Given the description of an element on the screen output the (x, y) to click on. 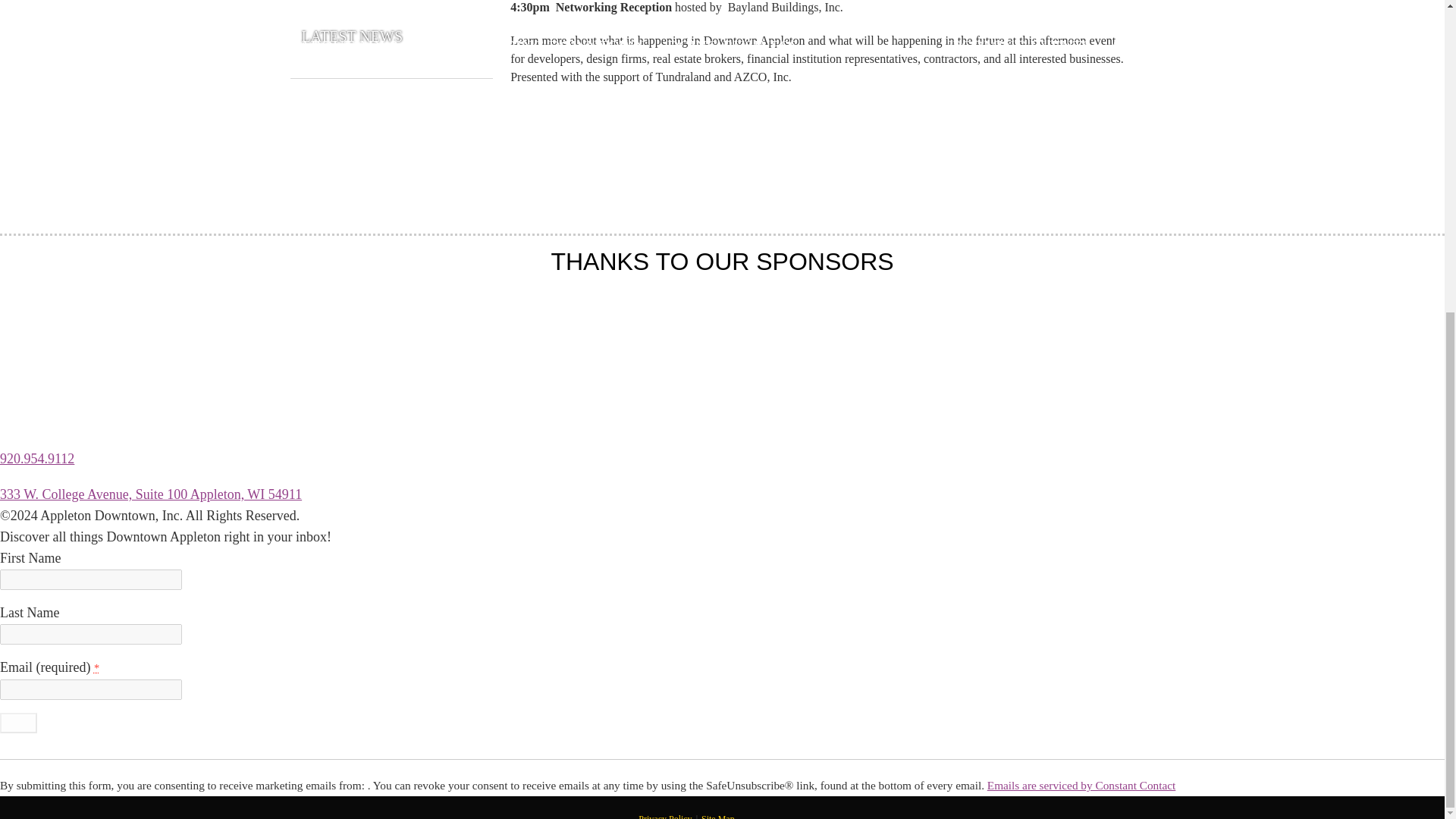
GO! (18, 722)
